Given the description of an element on the screen output the (x, y) to click on. 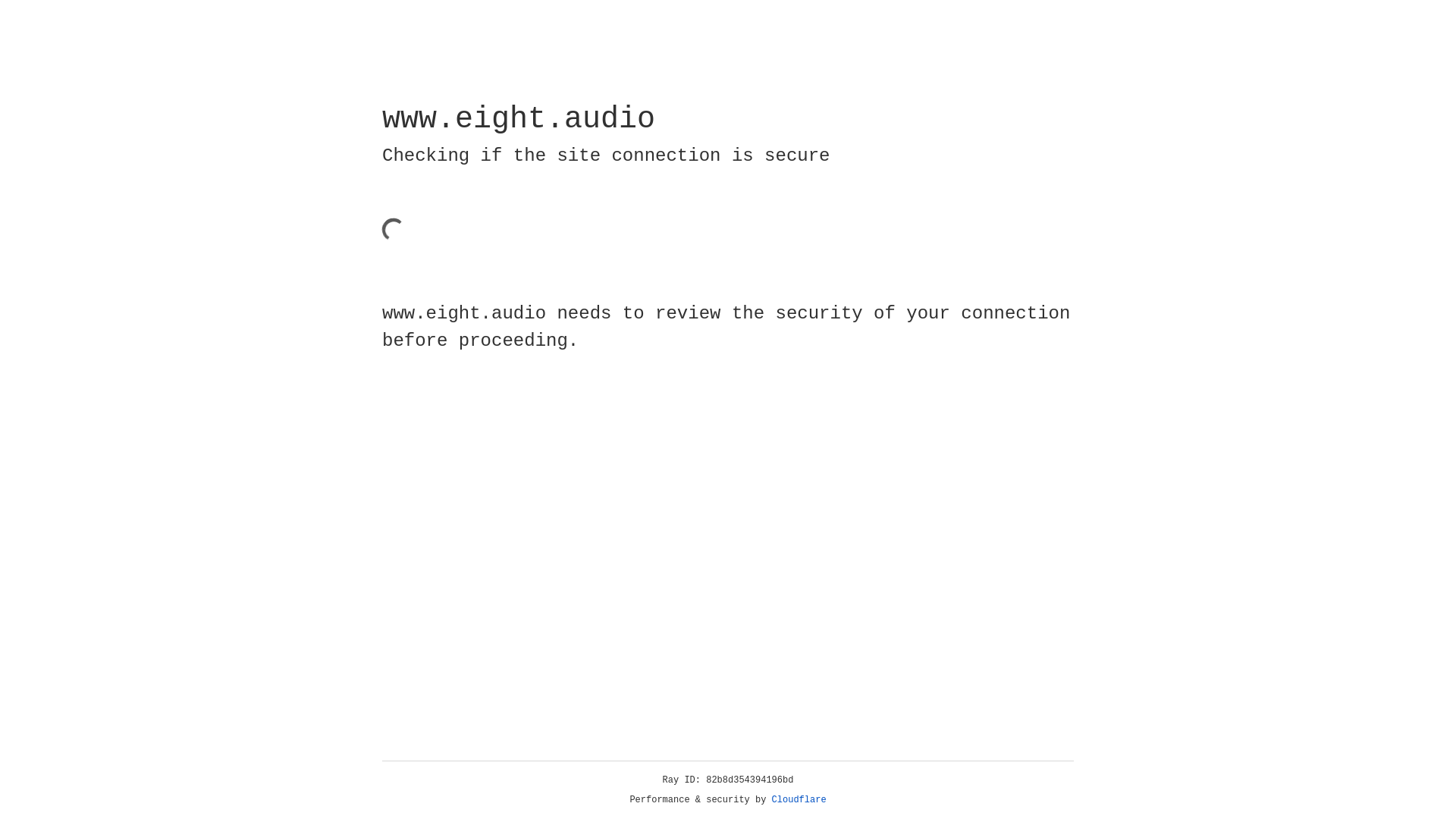
Cloudflare Element type: text (798, 799)
